Given the description of an element on the screen output the (x, y) to click on. 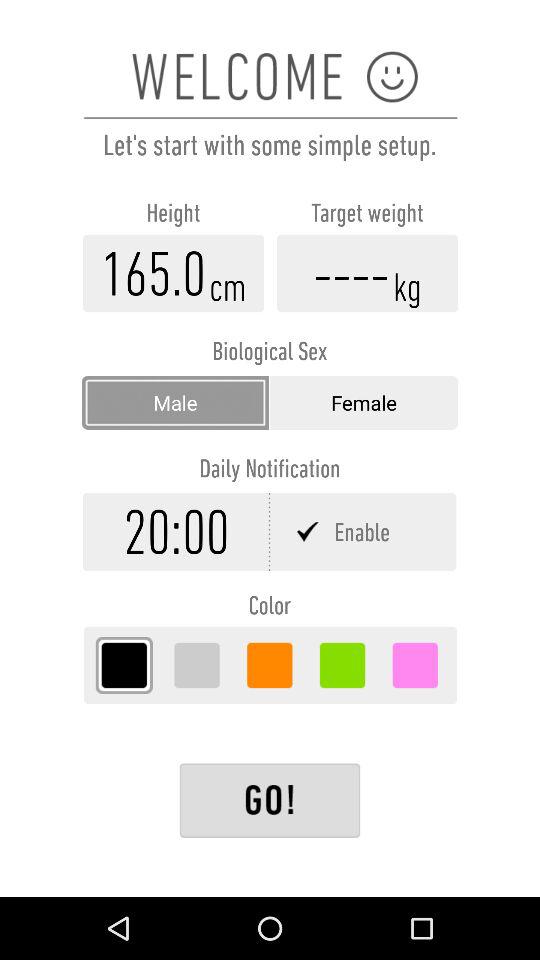
choose this color (124, 665)
